Given the description of an element on the screen output the (x, y) to click on. 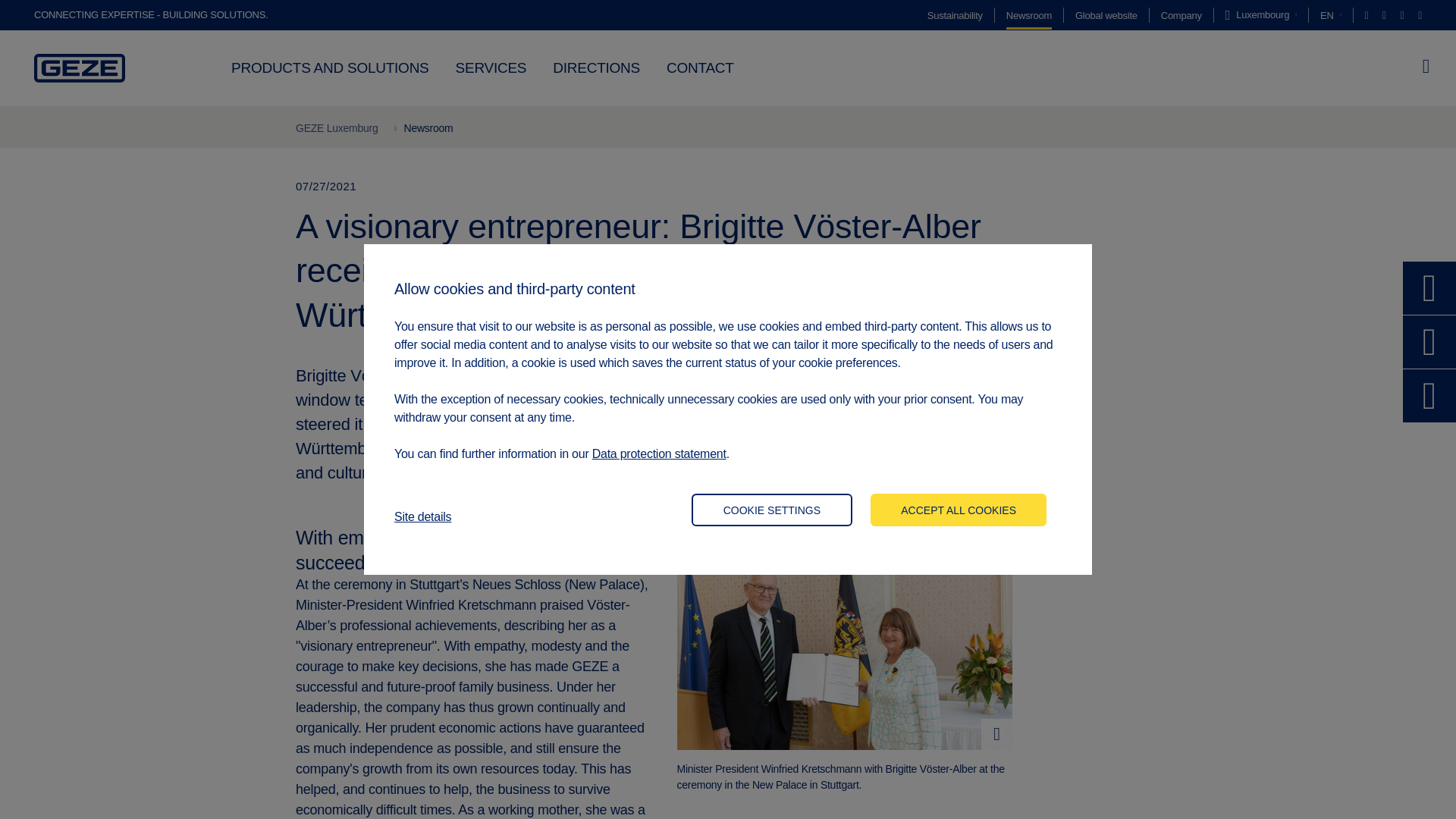
Global website (1106, 15)
Sustainability (954, 15)
Luxembourg (1261, 15)
Newsroom (1028, 15)
Company (1181, 15)
Sustainability (954, 15)
Company (1181, 15)
Ceremonial awarding (844, 637)
Newsroom (1028, 15)
GEZE Luxemburg (336, 128)
Global website (1106, 15)
